Given the description of an element on the screen output the (x, y) to click on. 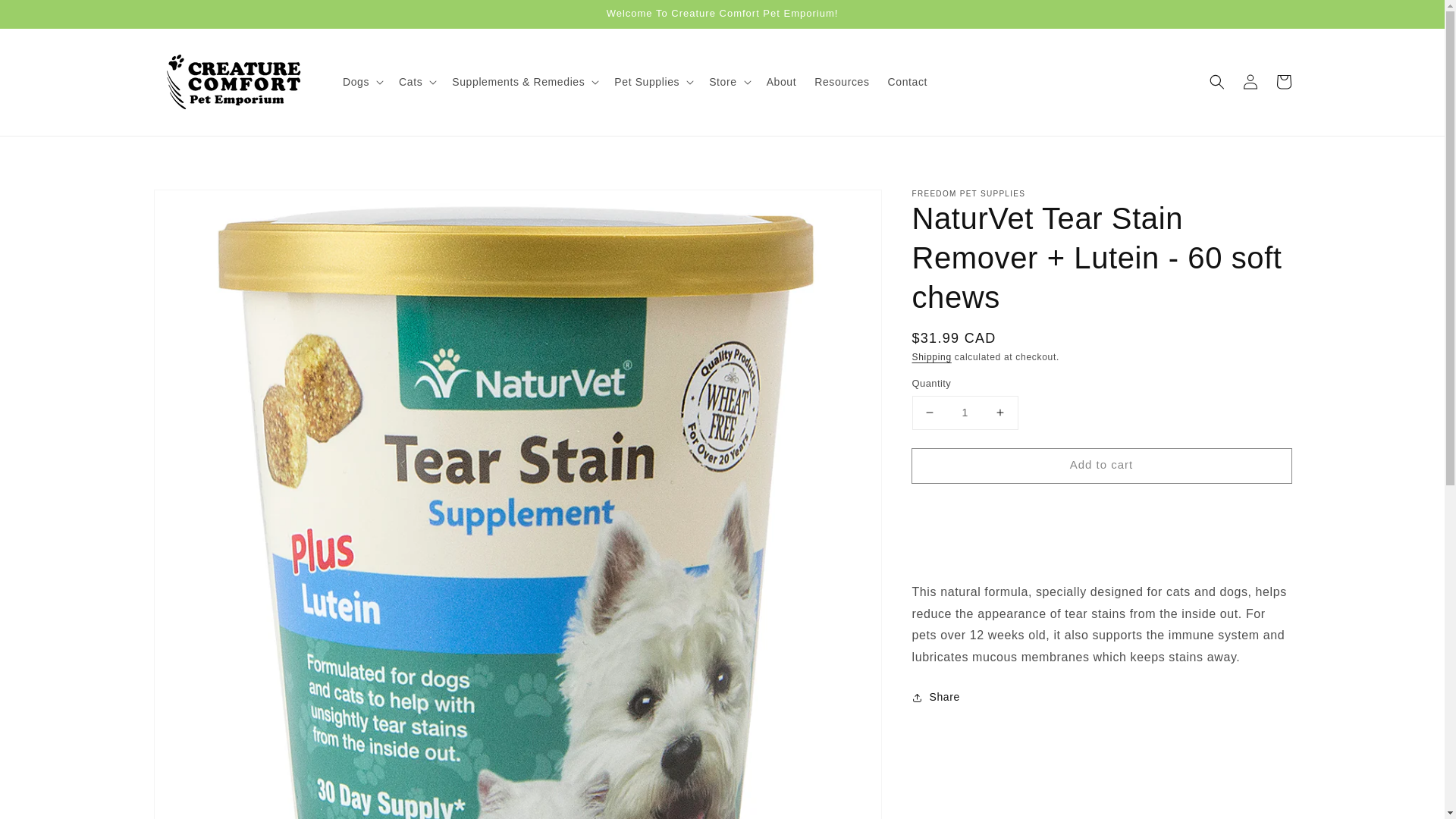
1 (964, 412)
Skip to content (45, 16)
